Given the description of an element on the screen output the (x, y) to click on. 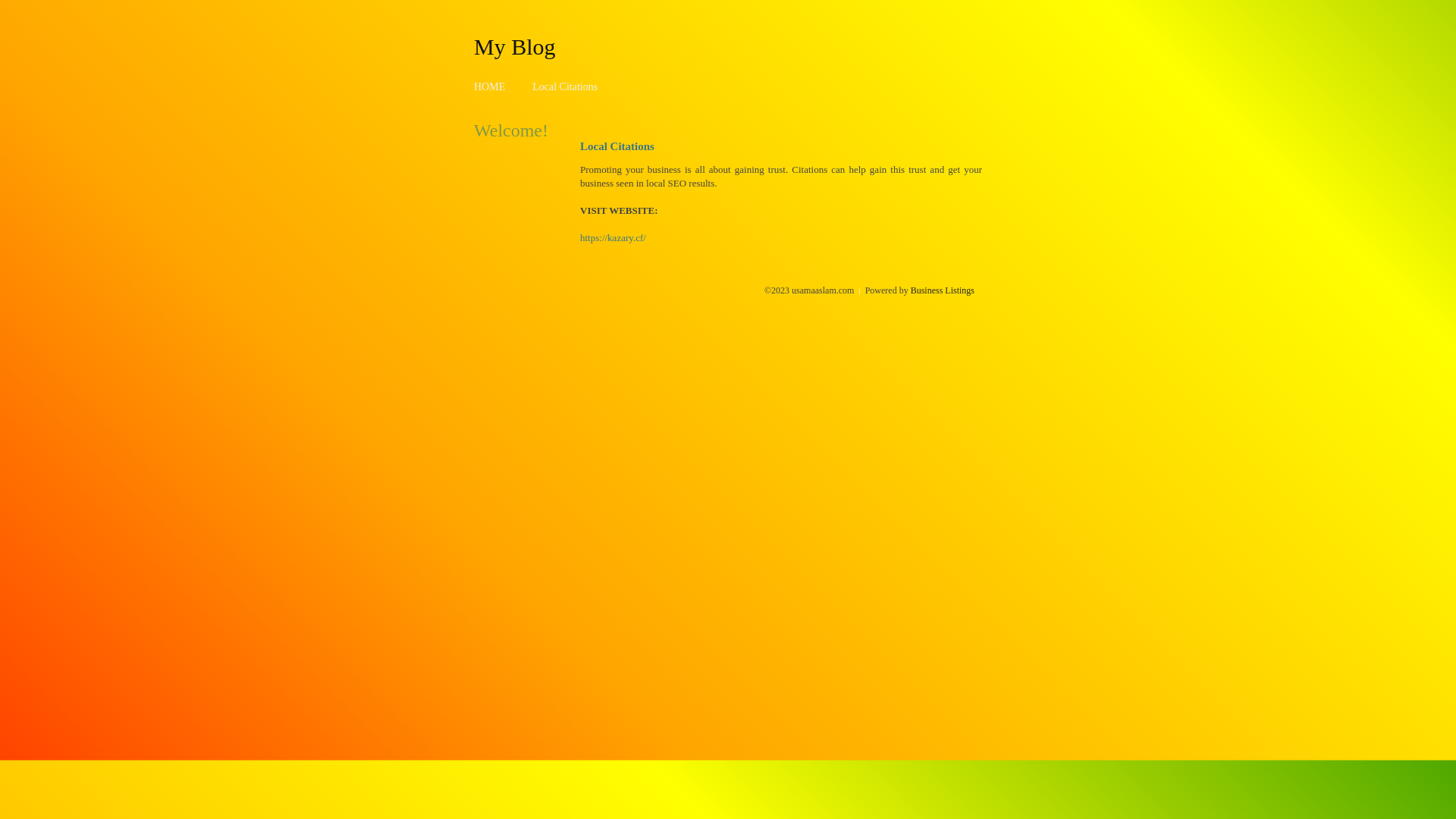
Local Citations Element type: text (564, 86)
Business Listings Element type: text (942, 290)
HOME Element type: text (489, 86)
My Blog Element type: text (514, 46)
https://kazary.cf/ Element type: text (613, 237)
